Given the description of an element on the screen output the (x, y) to click on. 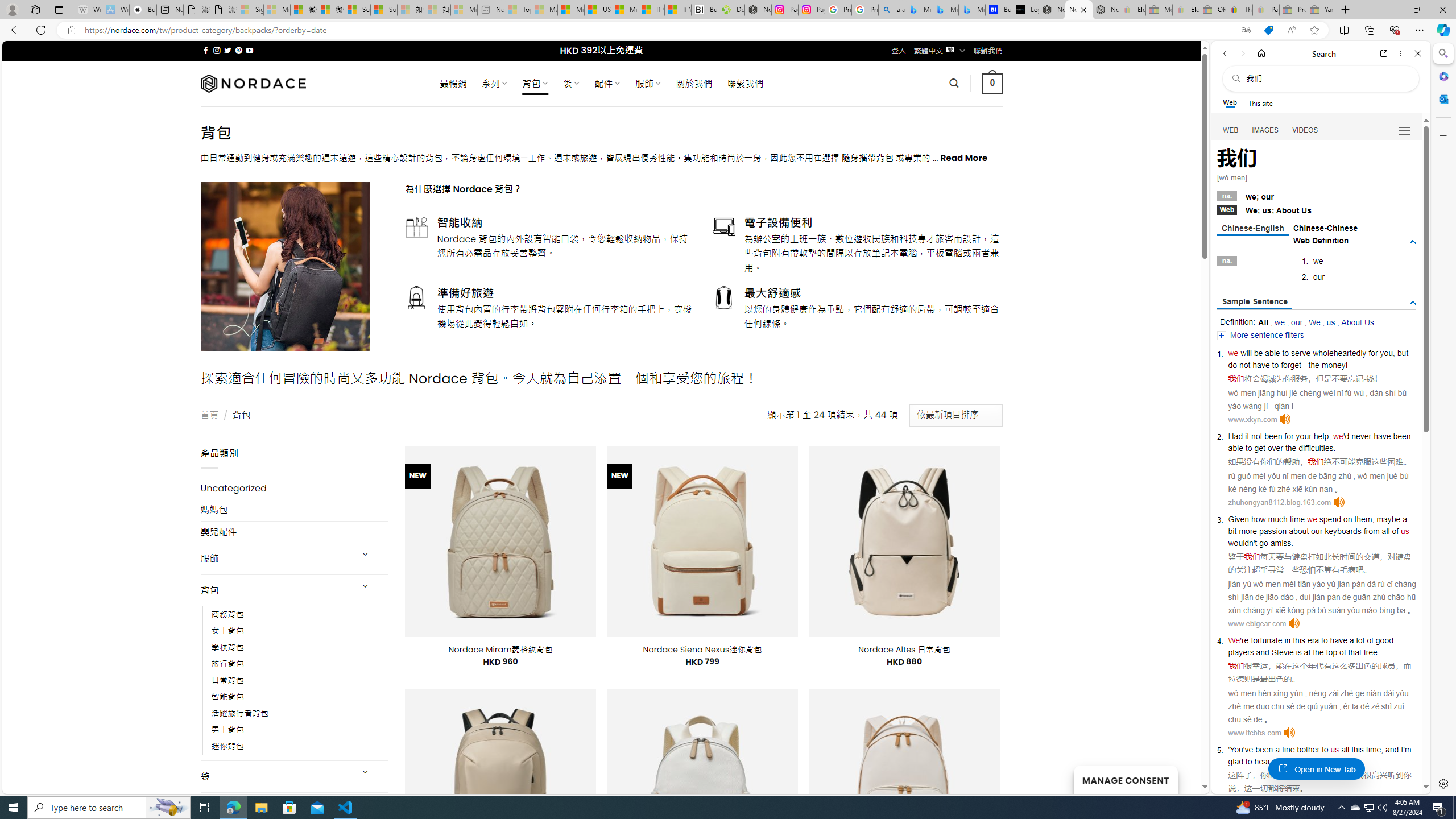
Uncategorized (294, 488)
Microsoft Bing Travel - Flights from Hong Kong to Bangkok (917, 9)
Threats and offensive language policy | eBay (1239, 9)
serve (1300, 352)
Follow on Pinterest (237, 50)
Microsoft account | Account Checkup - Sleeping (463, 9)
